Given the description of an element on the screen output the (x, y) to click on. 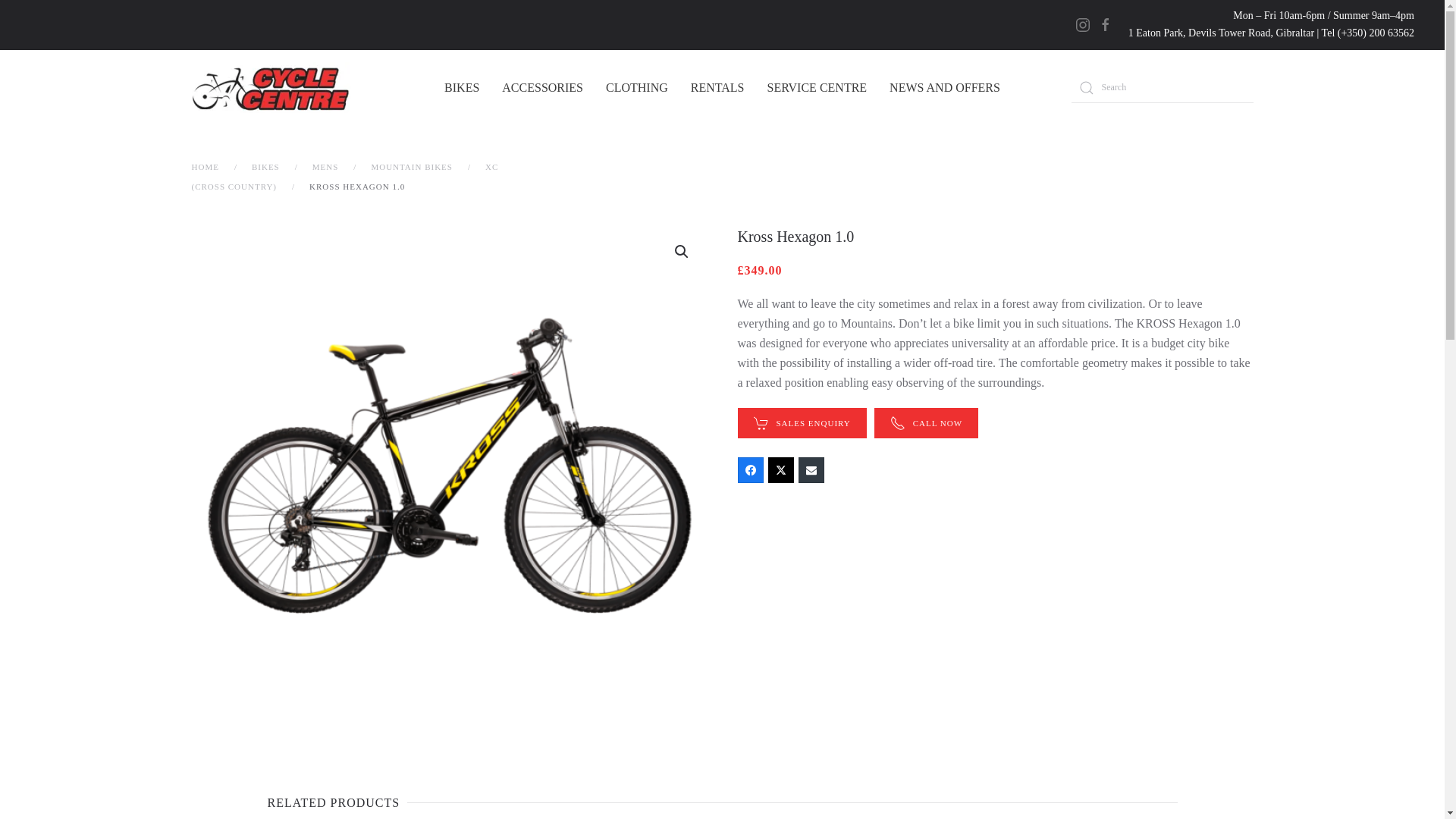
SALES ENQUIRY (801, 422)
MENS (326, 166)
ACCESSORIES (542, 87)
NEWS AND OFFERS (994, 422)
BIKES (944, 87)
Kross Hexagon 1.0 (265, 166)
MOUNTAIN BIKES (994, 236)
SERVICE CENTRE (411, 166)
CALL NOW (817, 87)
HOME (926, 422)
